Given the description of an element on the screen output the (x, y) to click on. 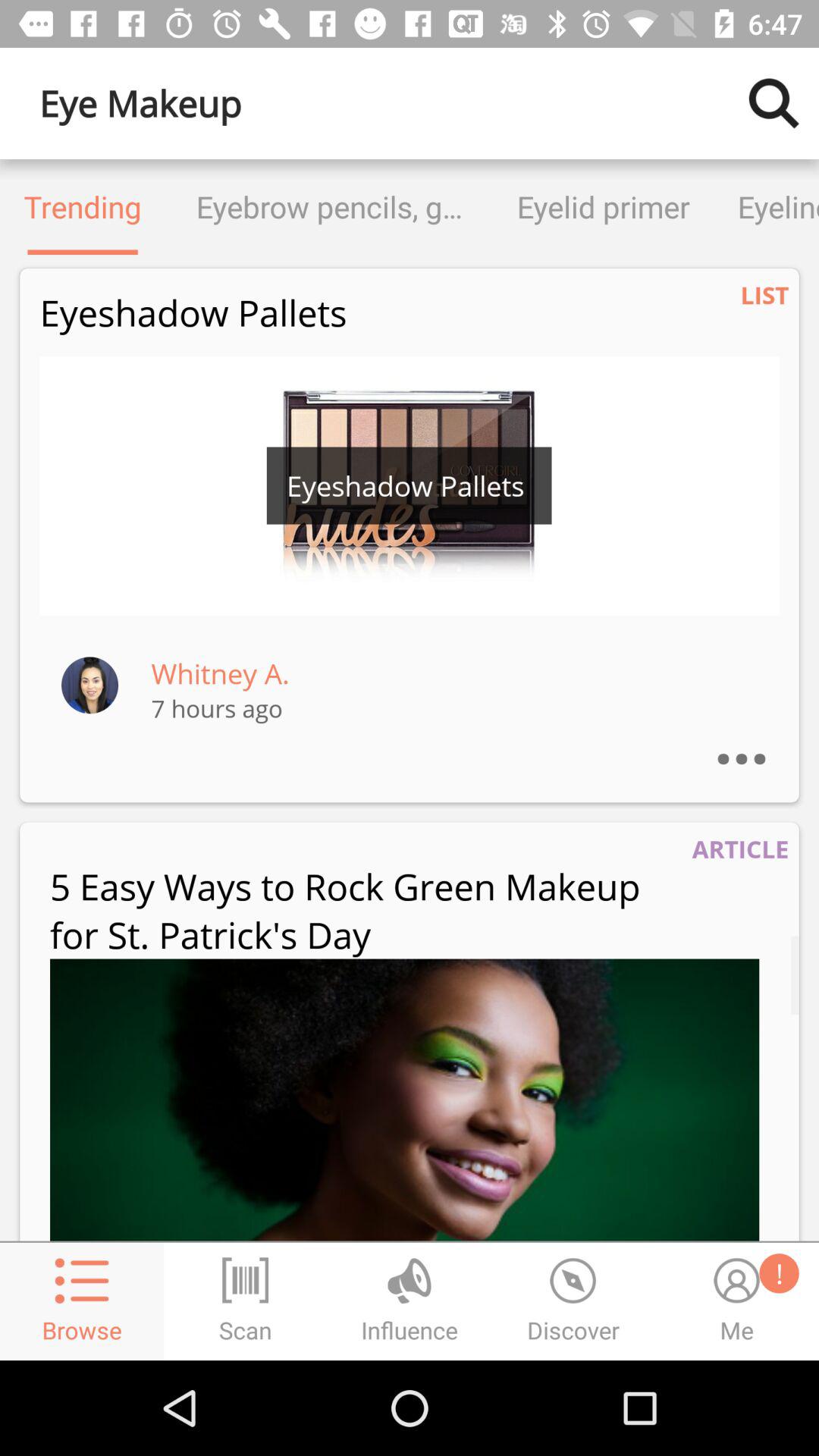
press eyelid primer icon (603, 206)
